Given the description of an element on the screen output the (x, y) to click on. 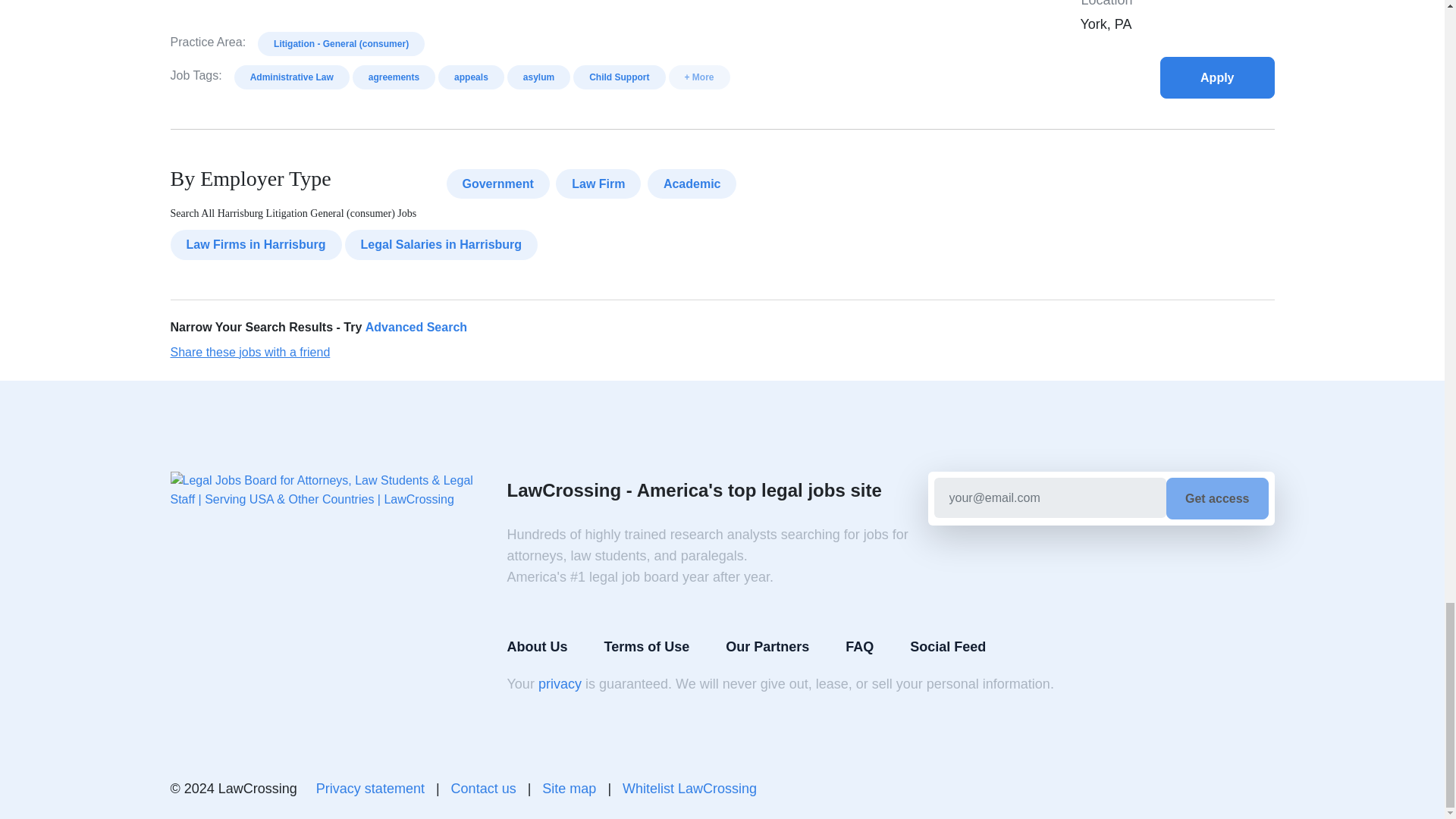
LawCrossing Twitter (1261, 788)
LawCrossing Facebook (1188, 788)
LawCrossing Linkedin (1224, 788)
